Given the description of an element on the screen output the (x, y) to click on. 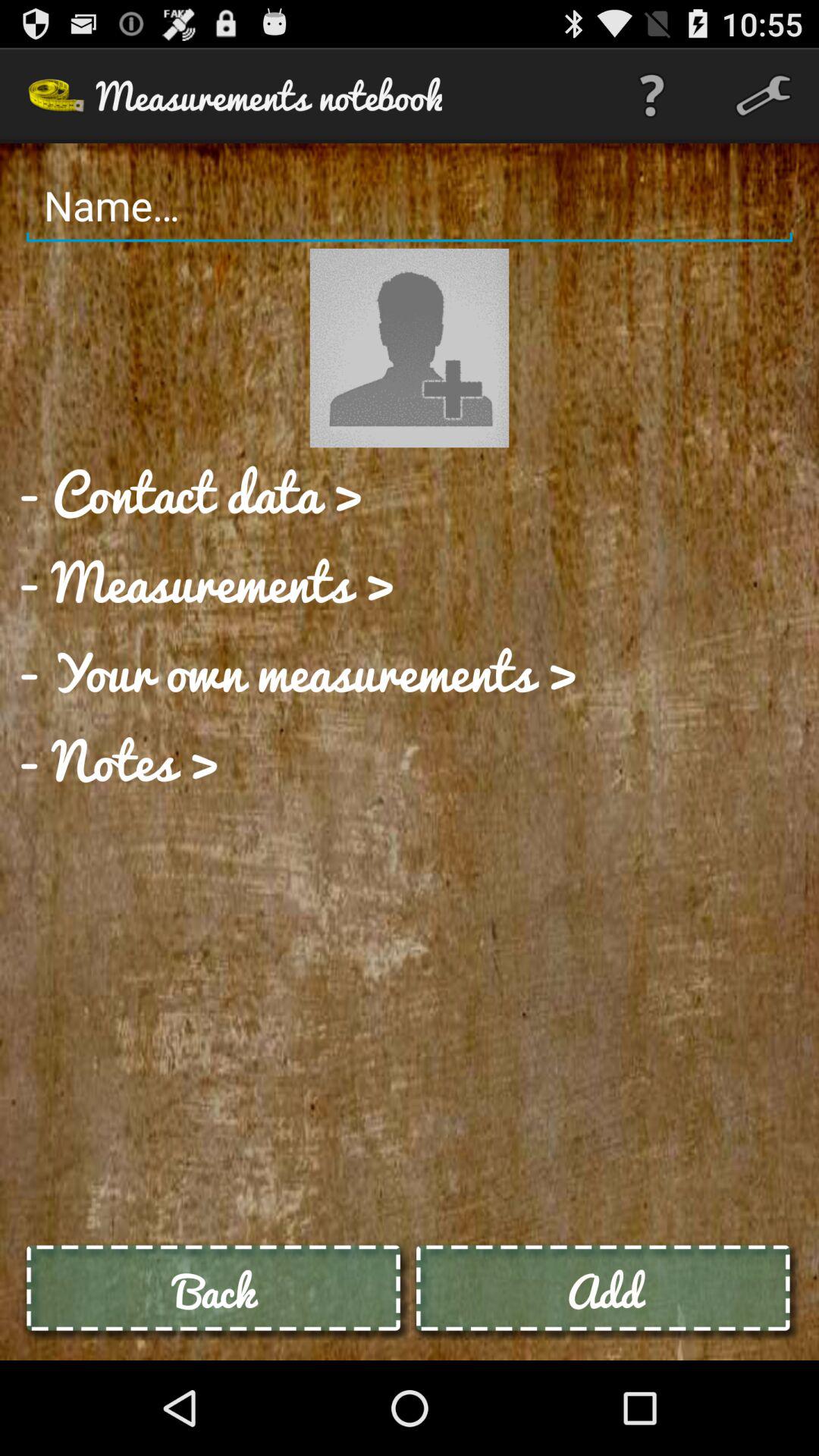
press the app next to the measurements notebook item (651, 95)
